Given the description of an element on the screen output the (x, y) to click on. 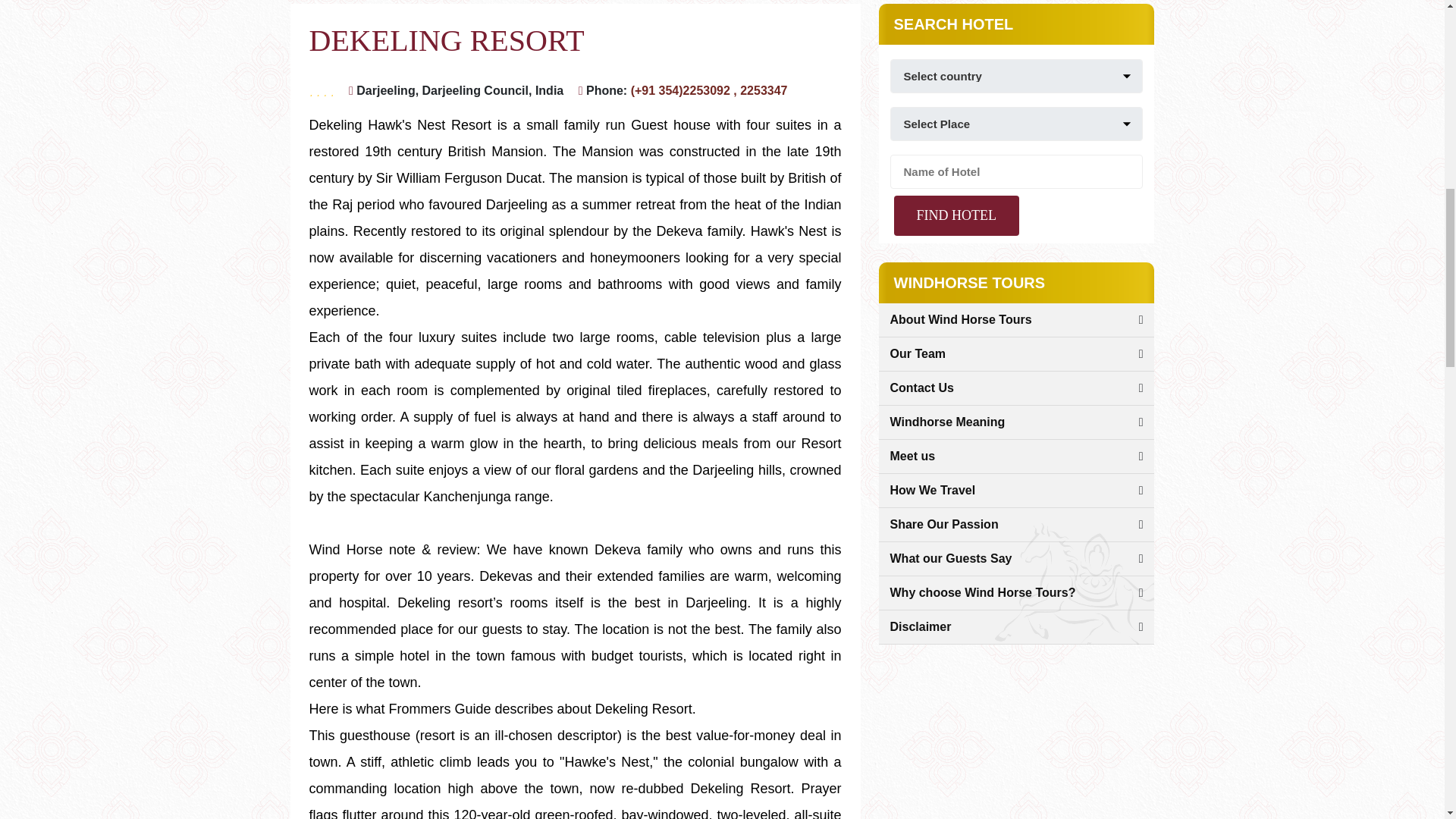
, 2253347 (760, 90)
